Given the description of an element on the screen output the (x, y) to click on. 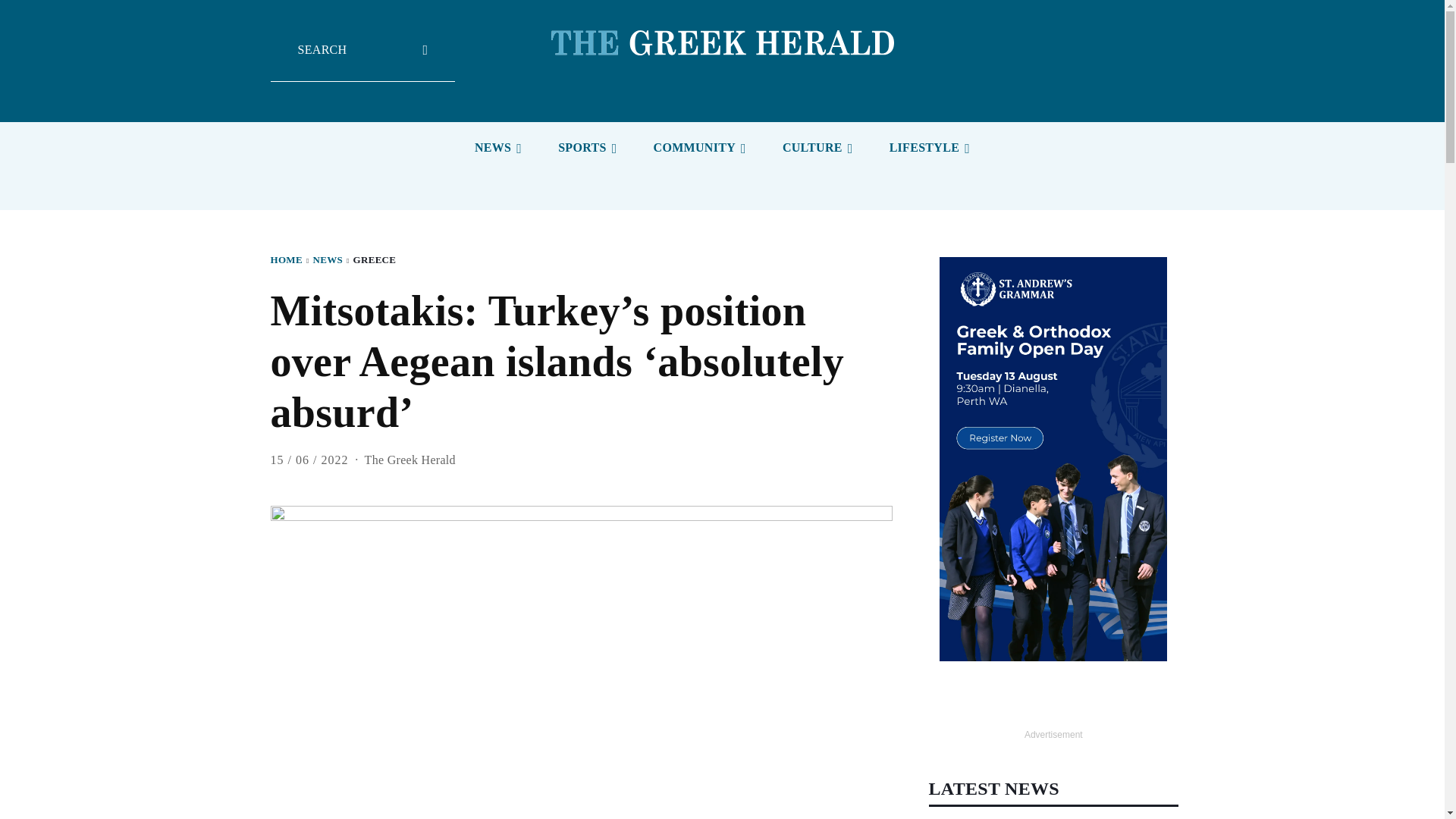
Search (361, 60)
